Given the description of an element on the screen output the (x, y) to click on. 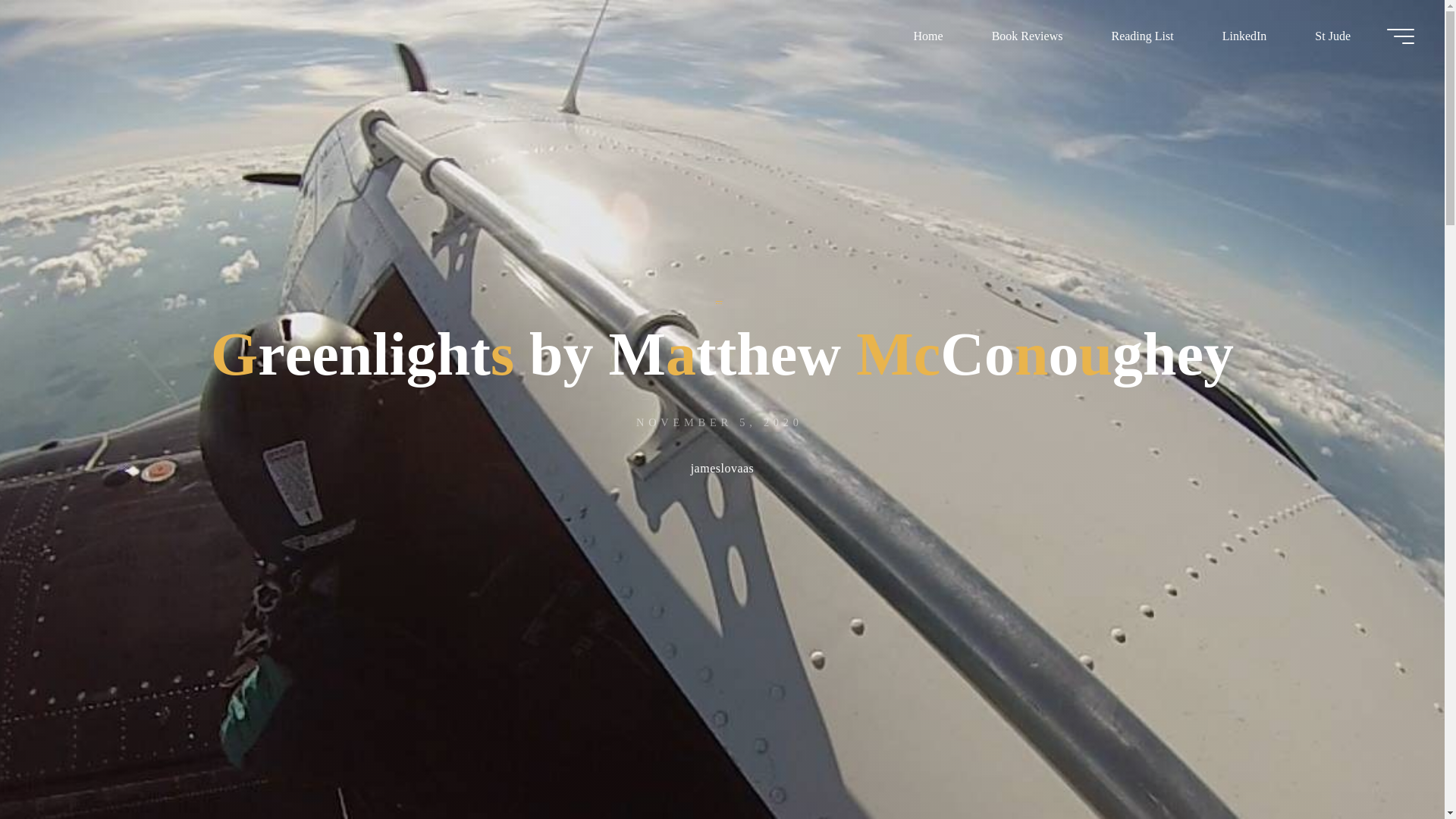
Book Reviews (1027, 35)
LinkedIn (1244, 35)
Reading List (1141, 35)
View all posts by jameslovaas (722, 469)
St Jude (1332, 35)
jameslovaas (722, 469)
Read more (721, 724)
Home (928, 35)
